Given the description of an element on the screen output the (x, y) to click on. 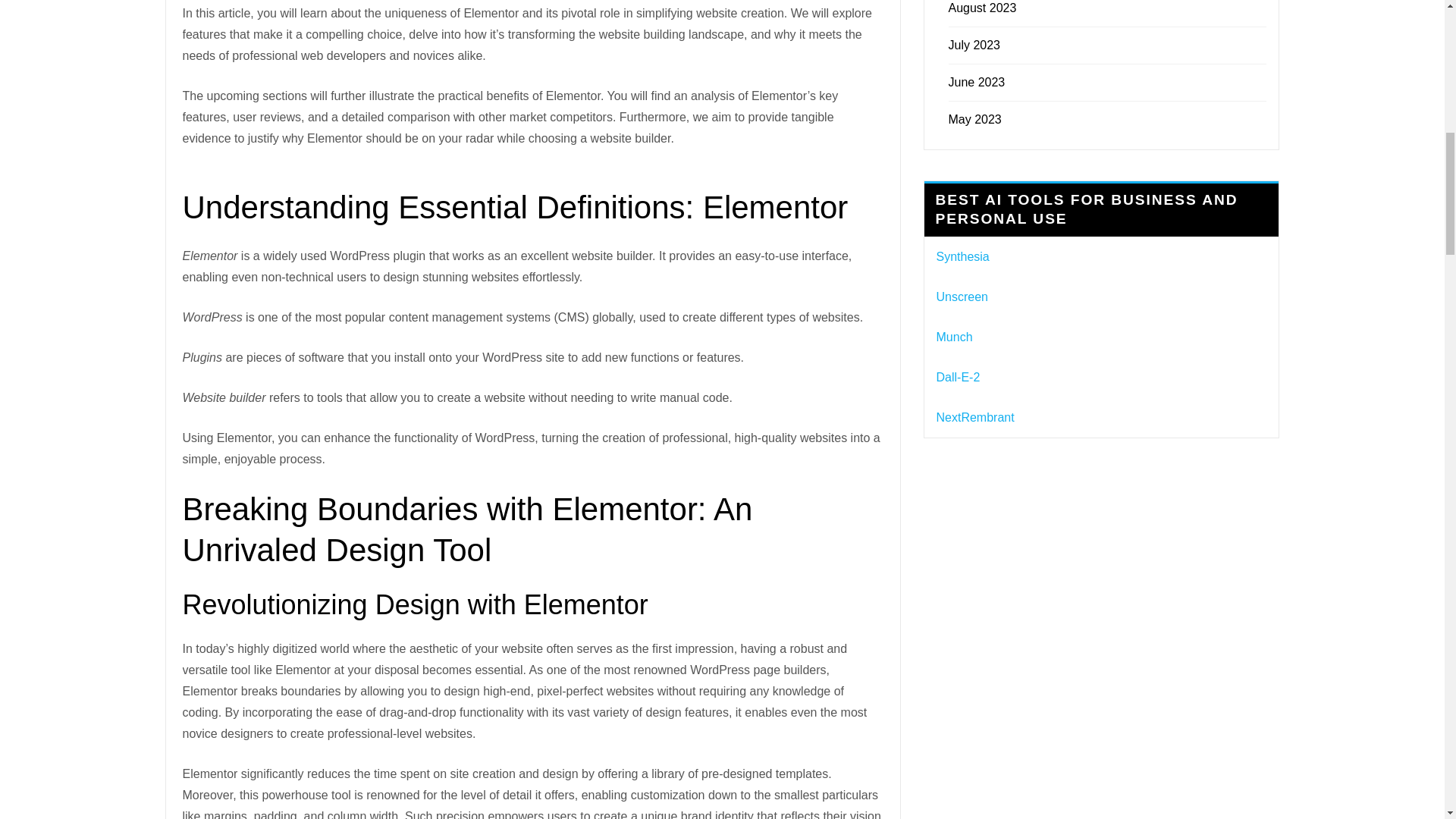
Synthesia (962, 256)
Dall-E-2 (957, 377)
July 2023 (973, 44)
August 2023 (981, 7)
May 2023 (974, 119)
NextRembrant (974, 417)
June 2023 (975, 82)
Munch (954, 336)
Unscreen (961, 296)
